Given the description of an element on the screen output the (x, y) to click on. 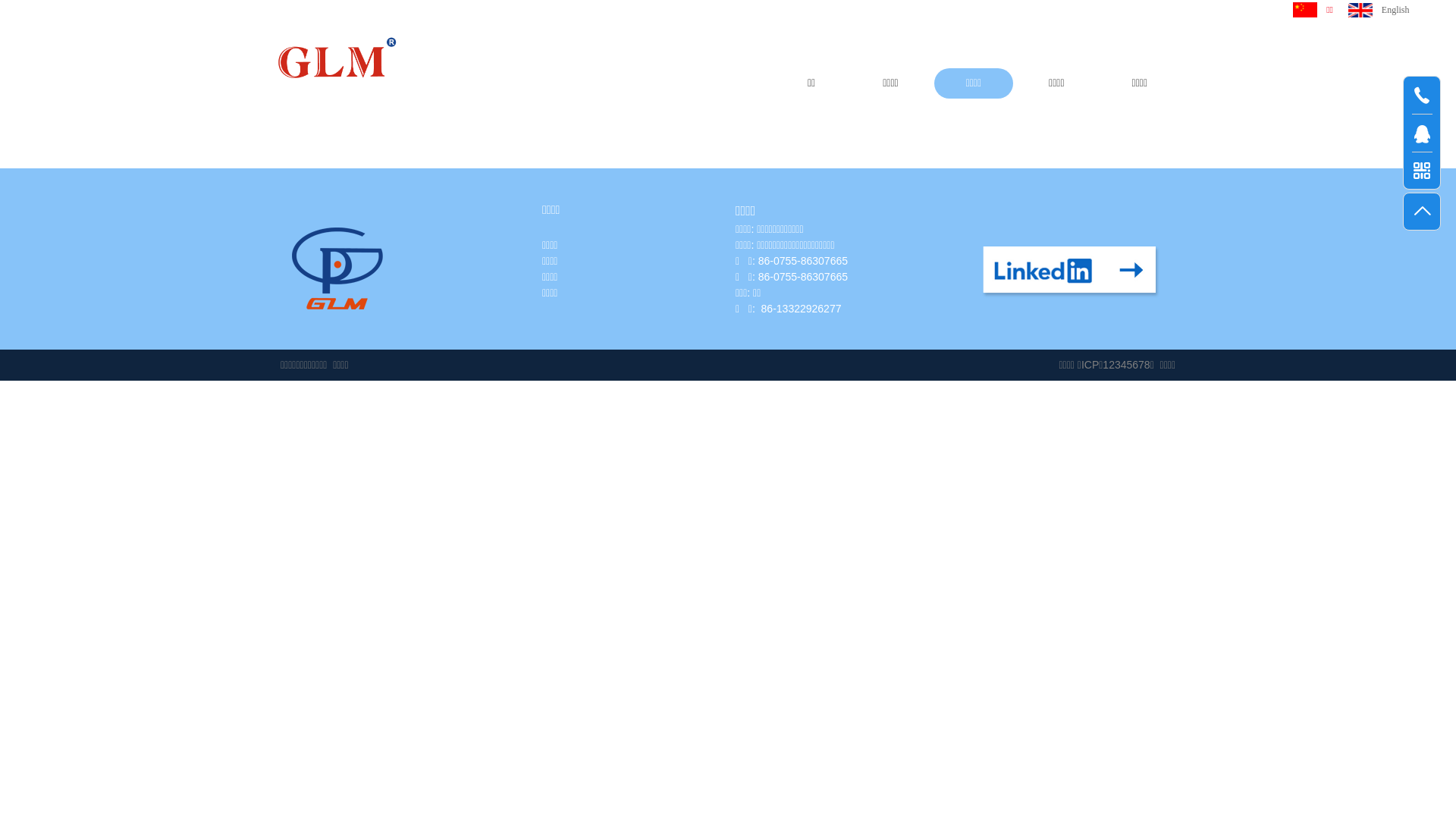
English Element type: text (1378, 9)
